Given the description of an element on the screen output the (x, y) to click on. 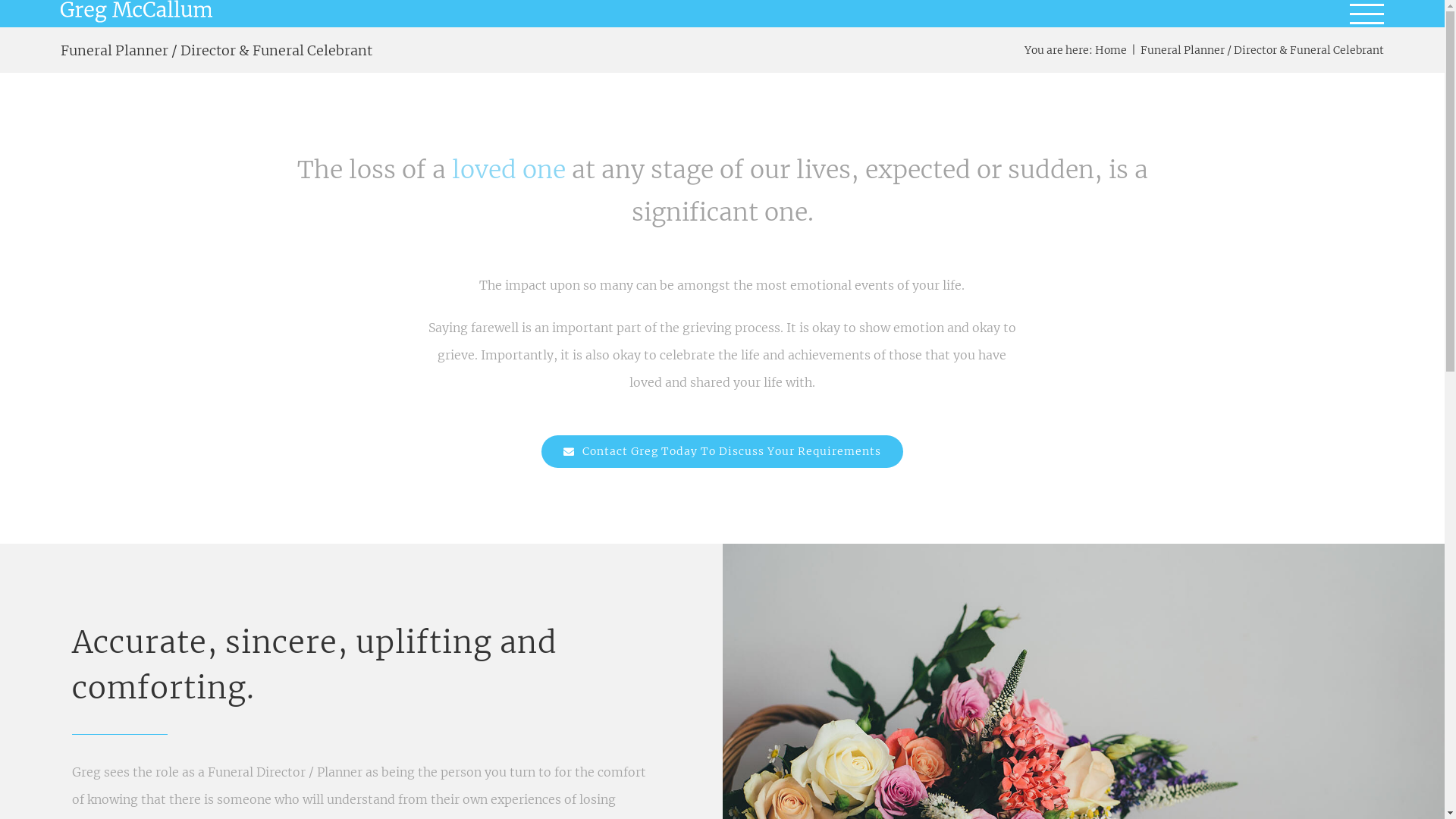
Home Element type: text (1110, 49)
Contact Greg Today To Discuss Your Requirements Element type: text (722, 451)
